Given the description of an element on the screen output the (x, y) to click on. 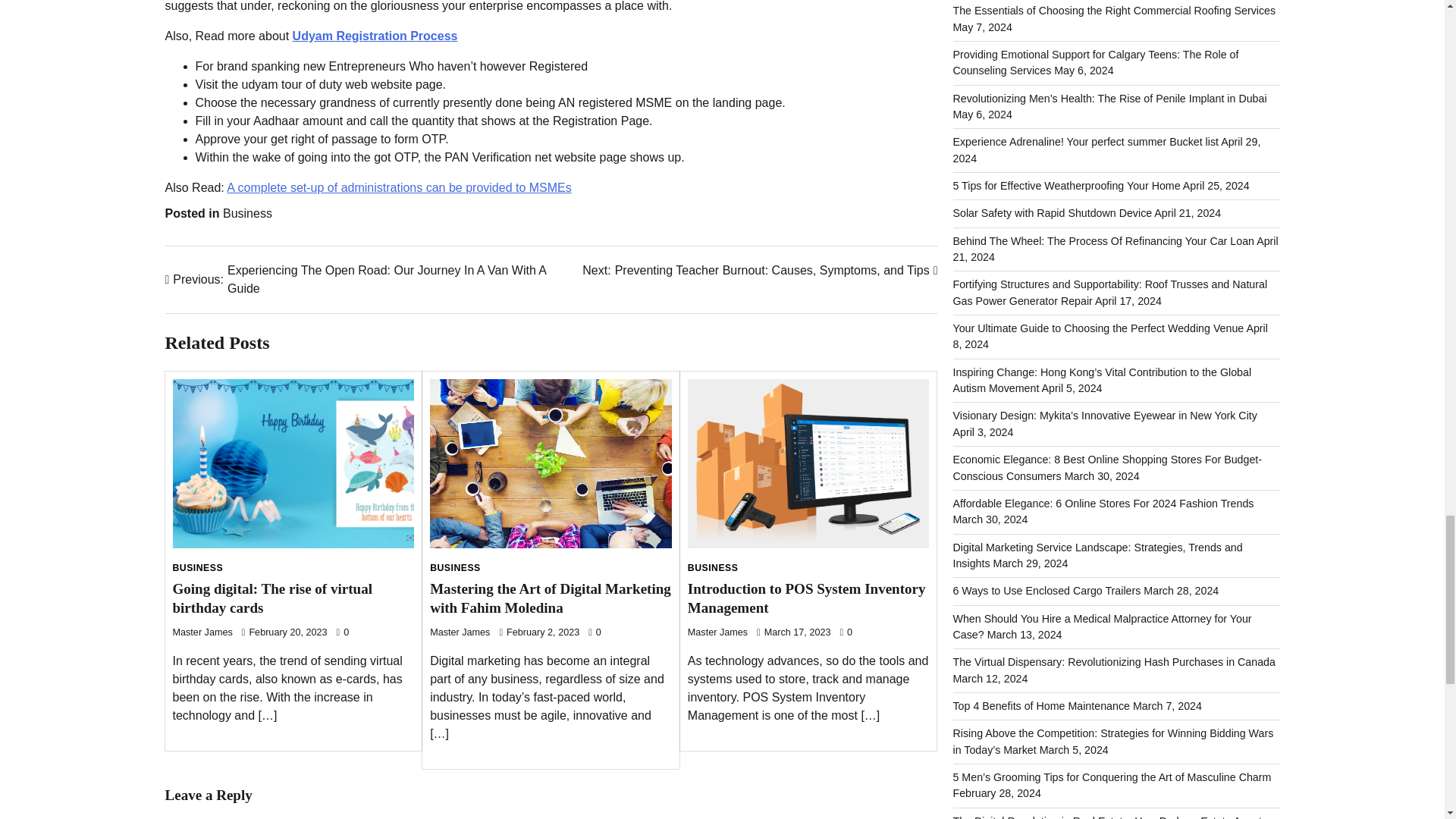
Business (247, 213)
Udyam Registration Process (375, 35)
